Given the description of an element on the screen output the (x, y) to click on. 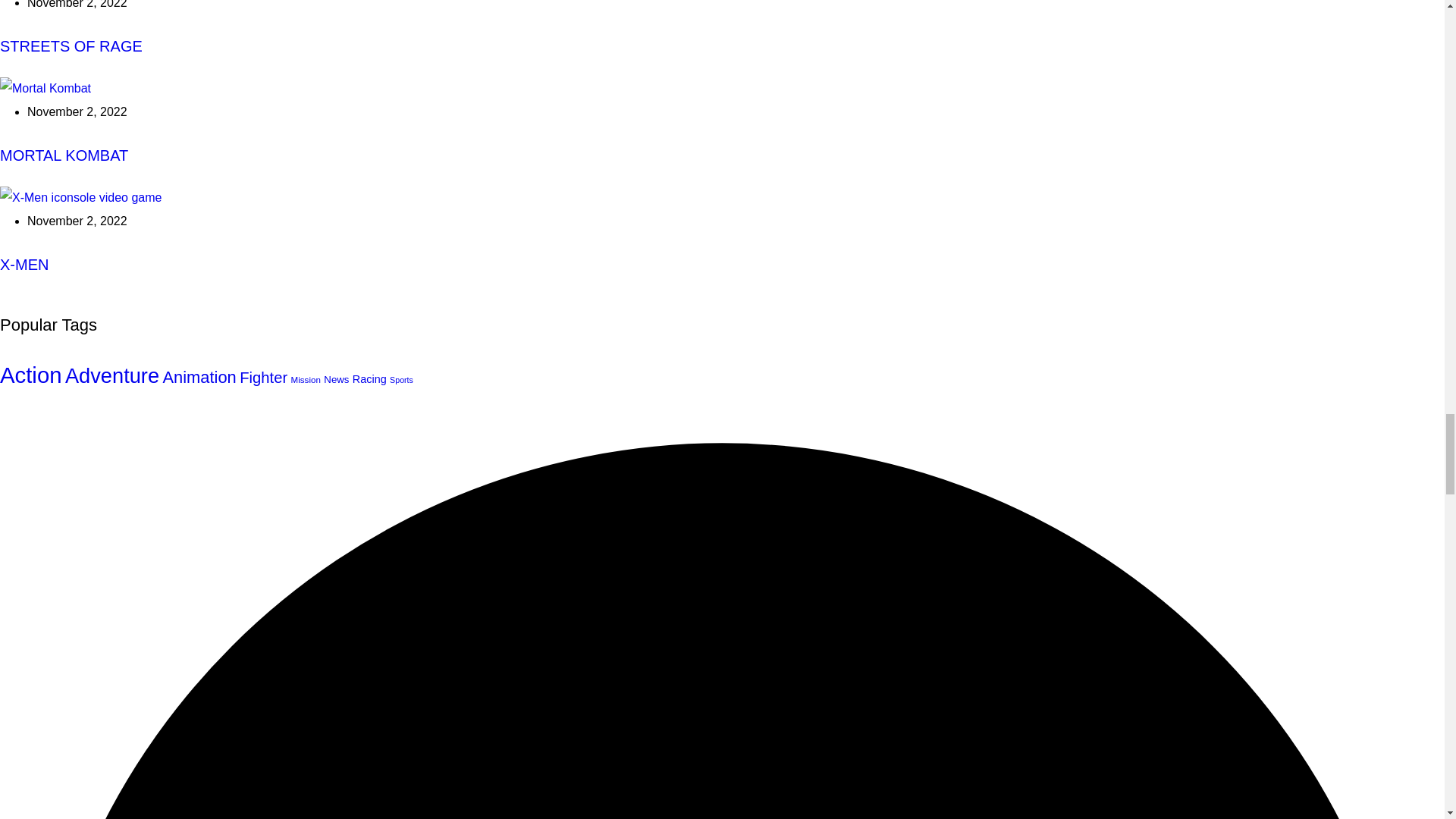
MORTAL KOMBAT (45, 88)
X-MEN (80, 196)
